Given the description of an element on the screen output the (x, y) to click on. 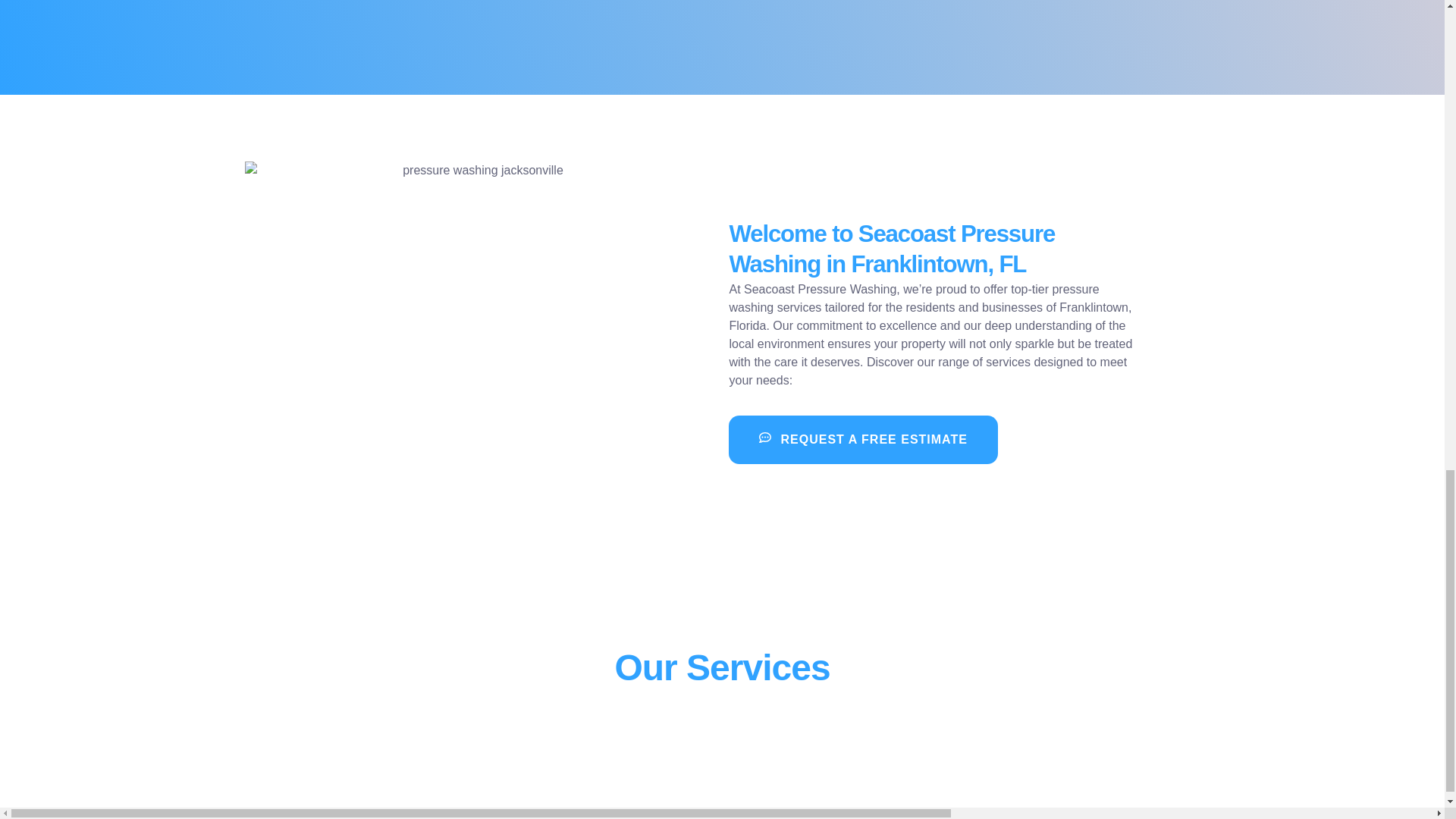
Seacoast Pressure Washing (820, 288)
REQUEST A FREE ESTIMATE (863, 439)
